Given the description of an element on the screen output the (x, y) to click on. 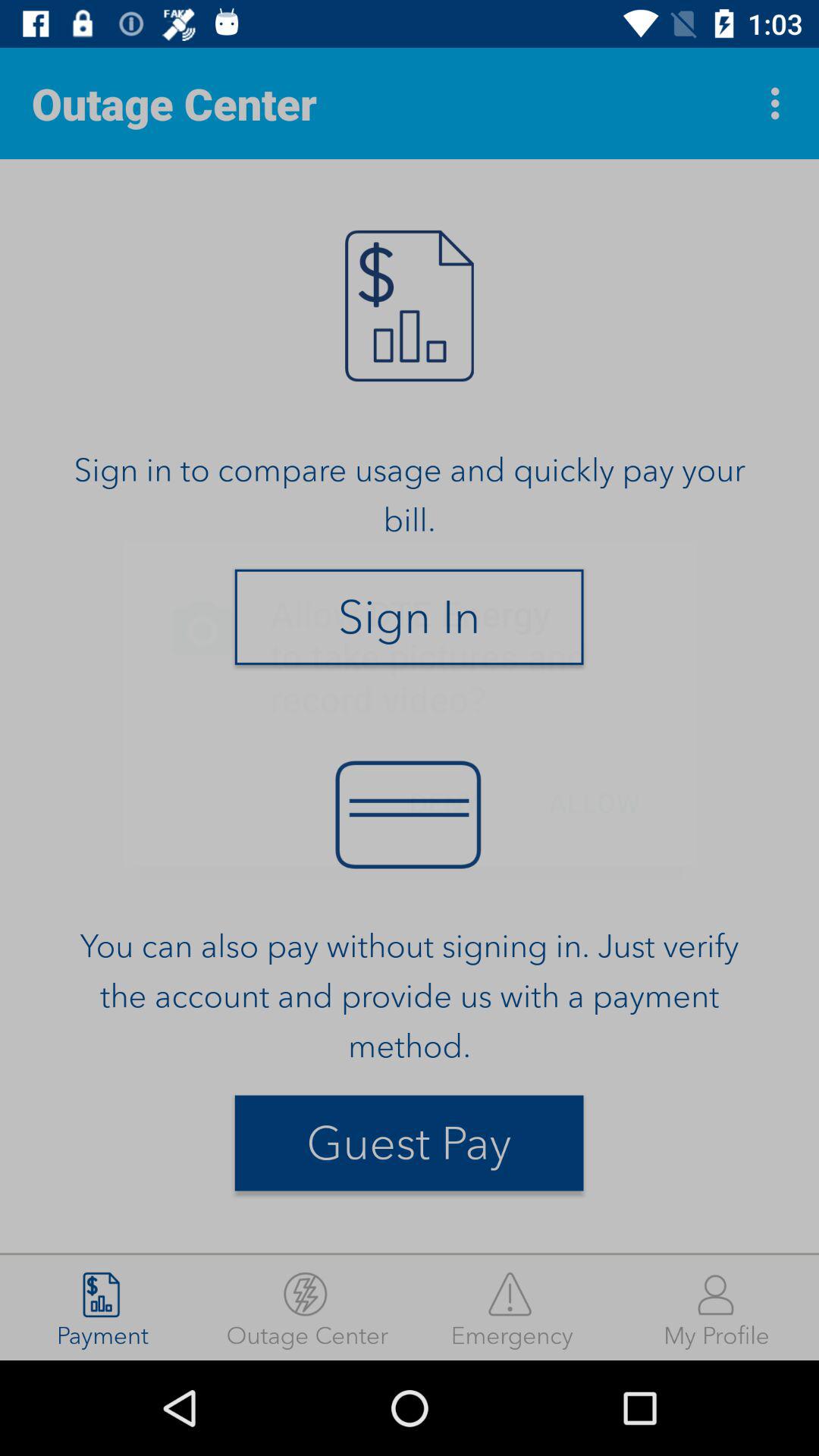
select the icon which is right side of outage center (779, 103)
go to guest pay (409, 1143)
click emergency (511, 1307)
go to my profile (716, 1307)
